Given the description of an element on the screen output the (x, y) to click on. 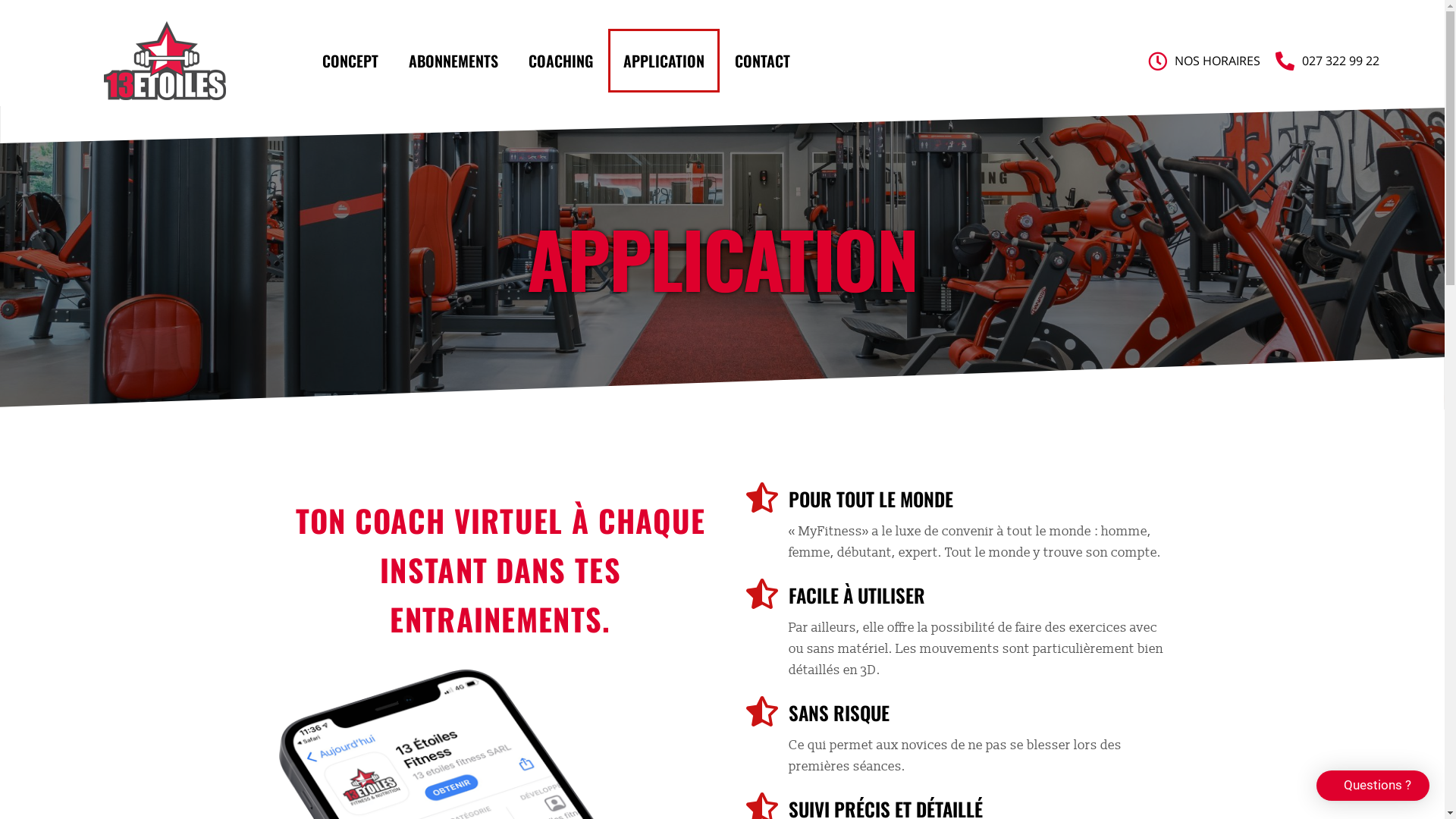
COACHING Element type: text (560, 60)
Questions ? Element type: text (1372, 785)
APPLICATION Element type: text (663, 60)
CONCEPT Element type: text (350, 60)
NOS HORAIRES Element type: text (1217, 60)
CONTACT Element type: text (762, 60)
ABONNEMENTS Element type: text (453, 60)
